Given the description of an element on the screen output the (x, y) to click on. 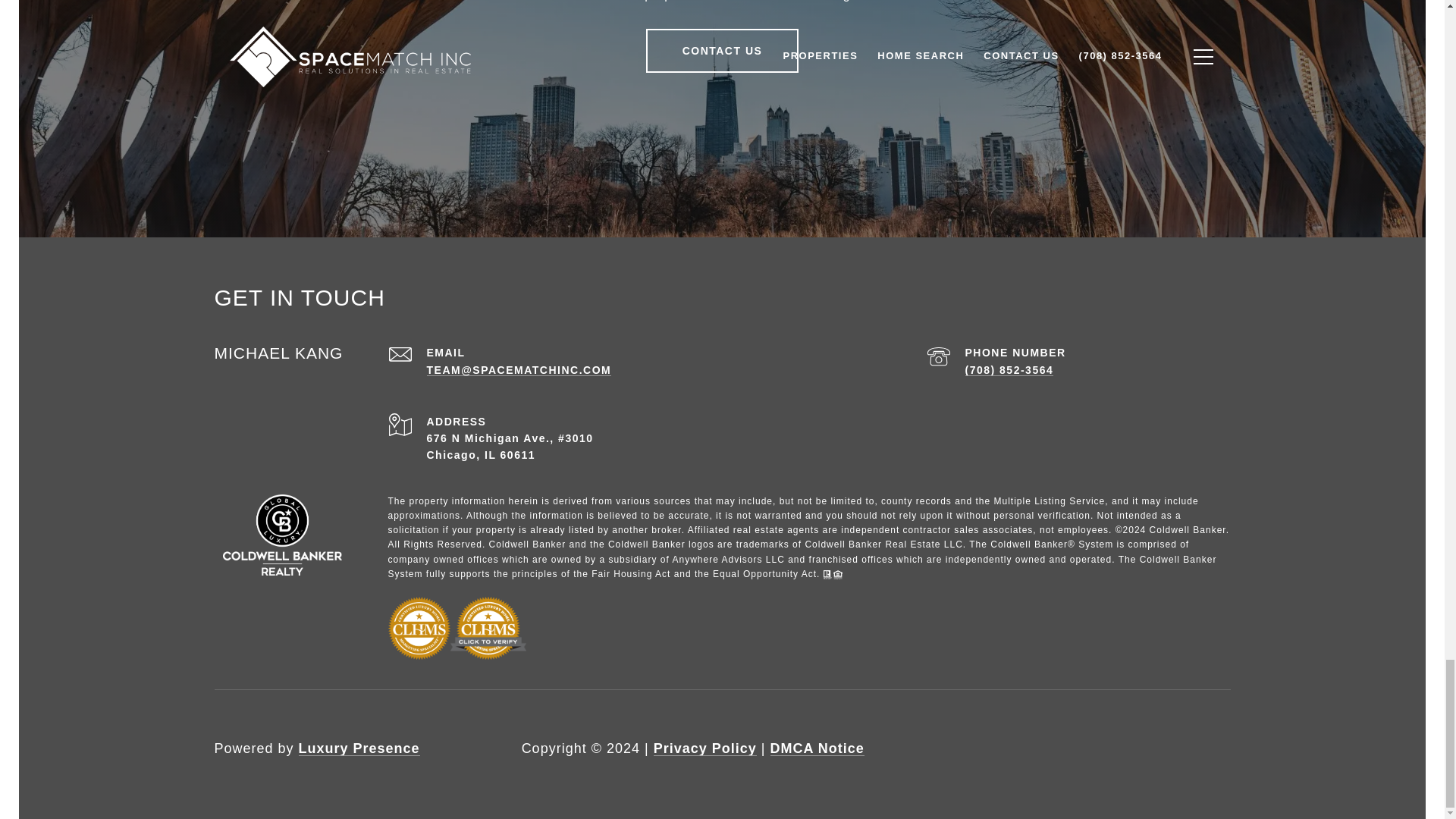
CONTACT US (722, 50)
